Given the description of an element on the screen output the (x, y) to click on. 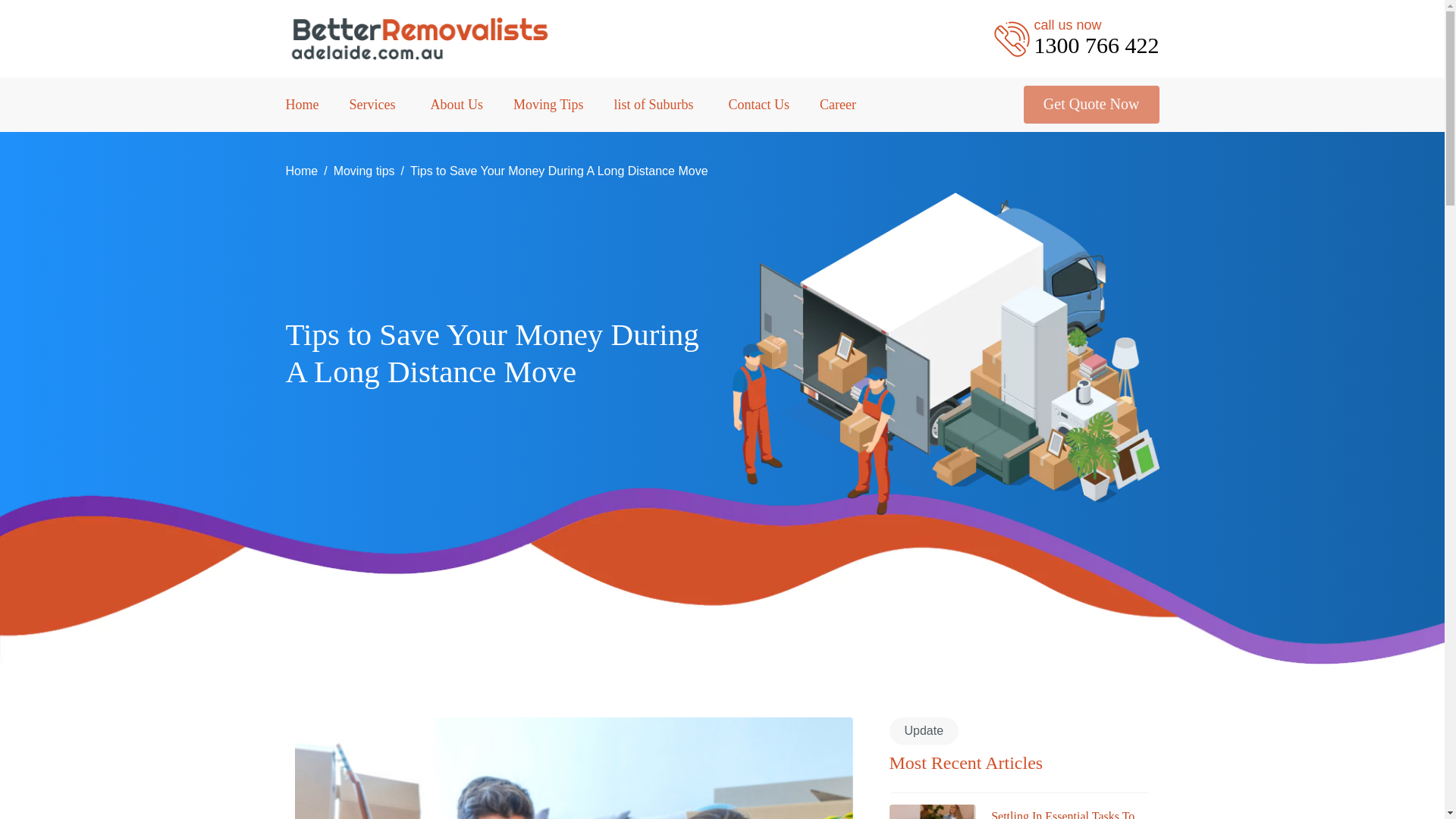
Moving tips (363, 170)
Services (373, 103)
Contact Us (759, 103)
Go to blog listing. (363, 170)
Get Quote Now (1075, 38)
Settling In Essential Tasks To Complete After Your Move (1090, 104)
Moving Tips (1062, 813)
list of Suburbs (548, 103)
Go to Home. (656, 103)
About Us (301, 170)
Home (456, 103)
